Given the description of an element on the screen output the (x, y) to click on. 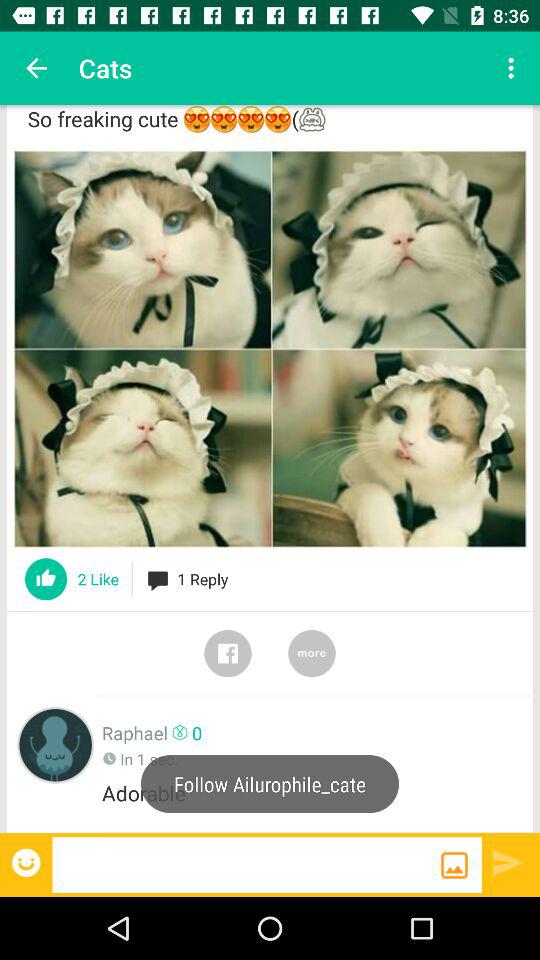
insert emoji (28, 862)
